Given the description of an element on the screen output the (x, y) to click on. 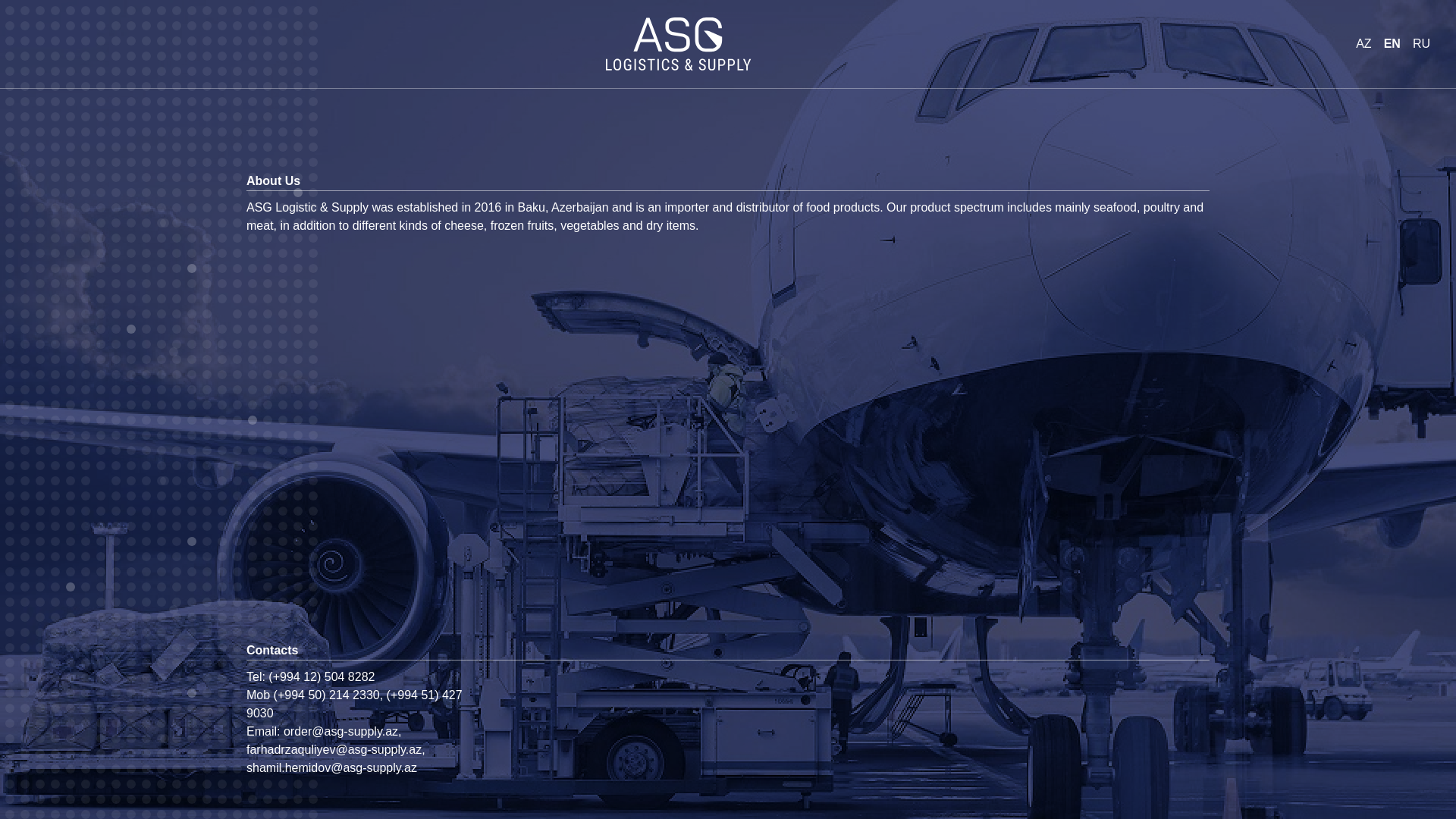
EN Element type: text (1391, 43)
AZ Element type: text (1363, 43)
RU Element type: text (1421, 43)
